Given the description of an element on the screen output the (x, y) to click on. 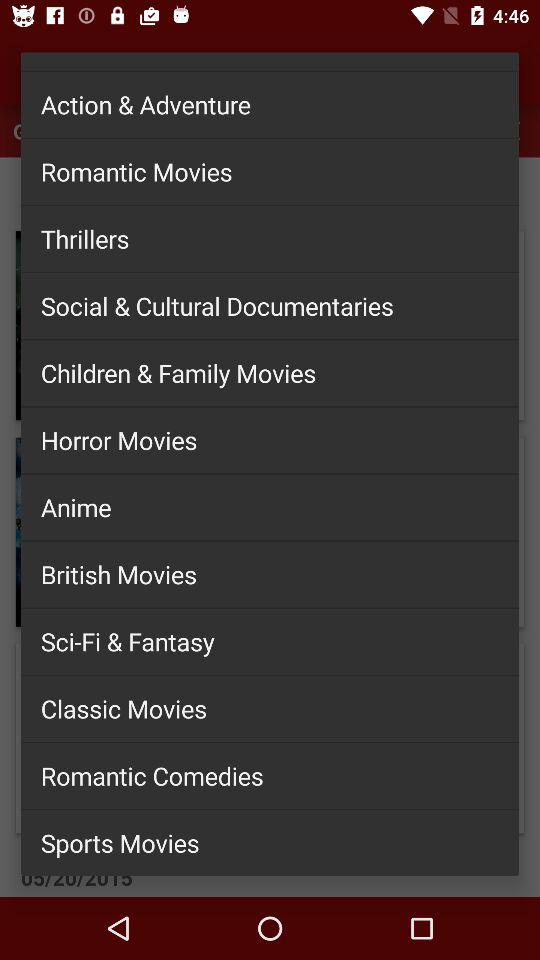
select icon above    social & cultural documentaries (269, 238)
